Given the description of an element on the screen output the (x, y) to click on. 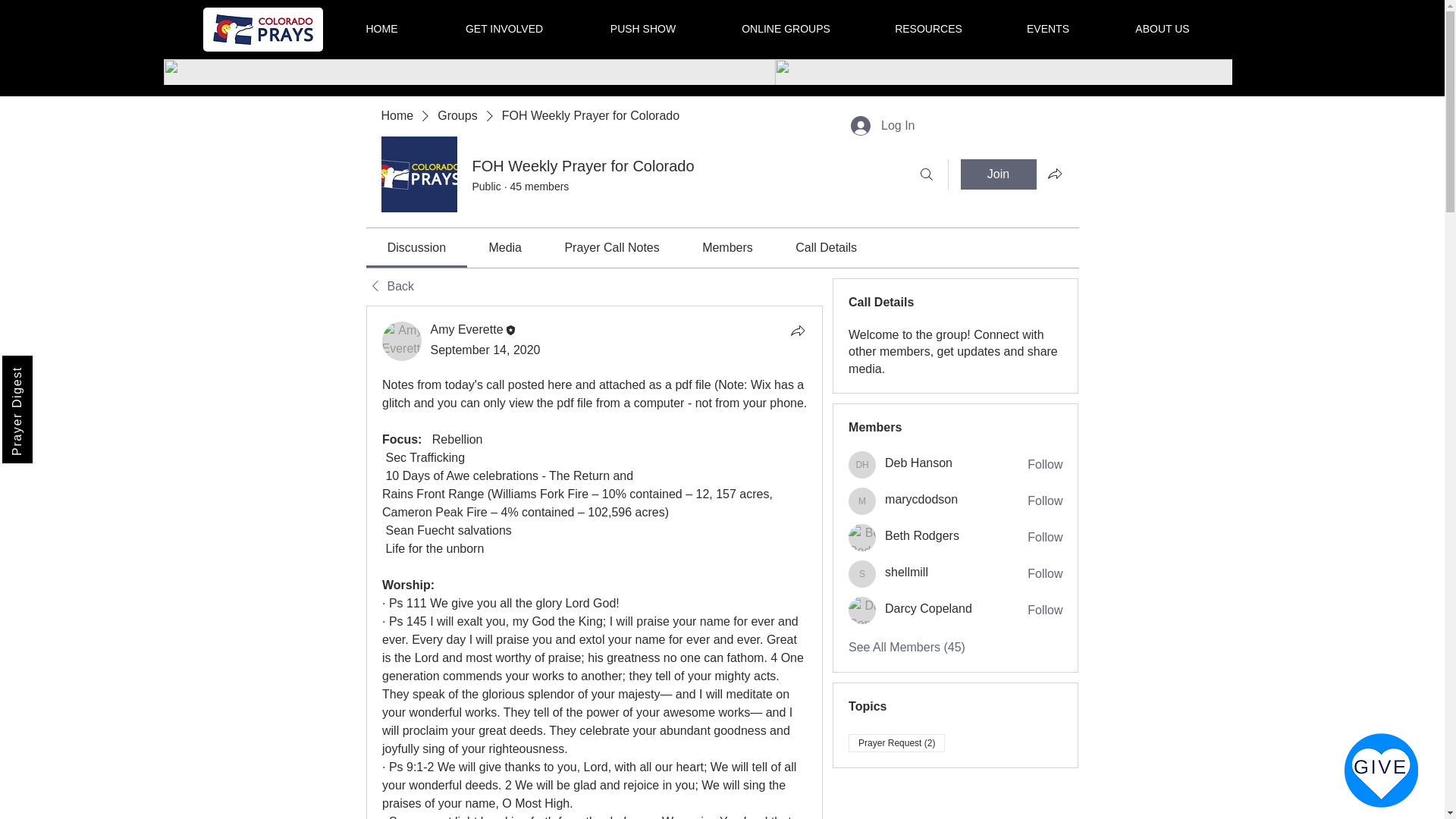
Join (997, 173)
Home (396, 115)
September 14, 2020 (485, 349)
Deb Hanson (918, 463)
Beth Rodgers (922, 535)
Darcy Copeland (862, 610)
marycdodson (862, 501)
Groups (457, 115)
Amy Everette (466, 328)
marycdodson (921, 499)
